Given the description of an element on the screen output the (x, y) to click on. 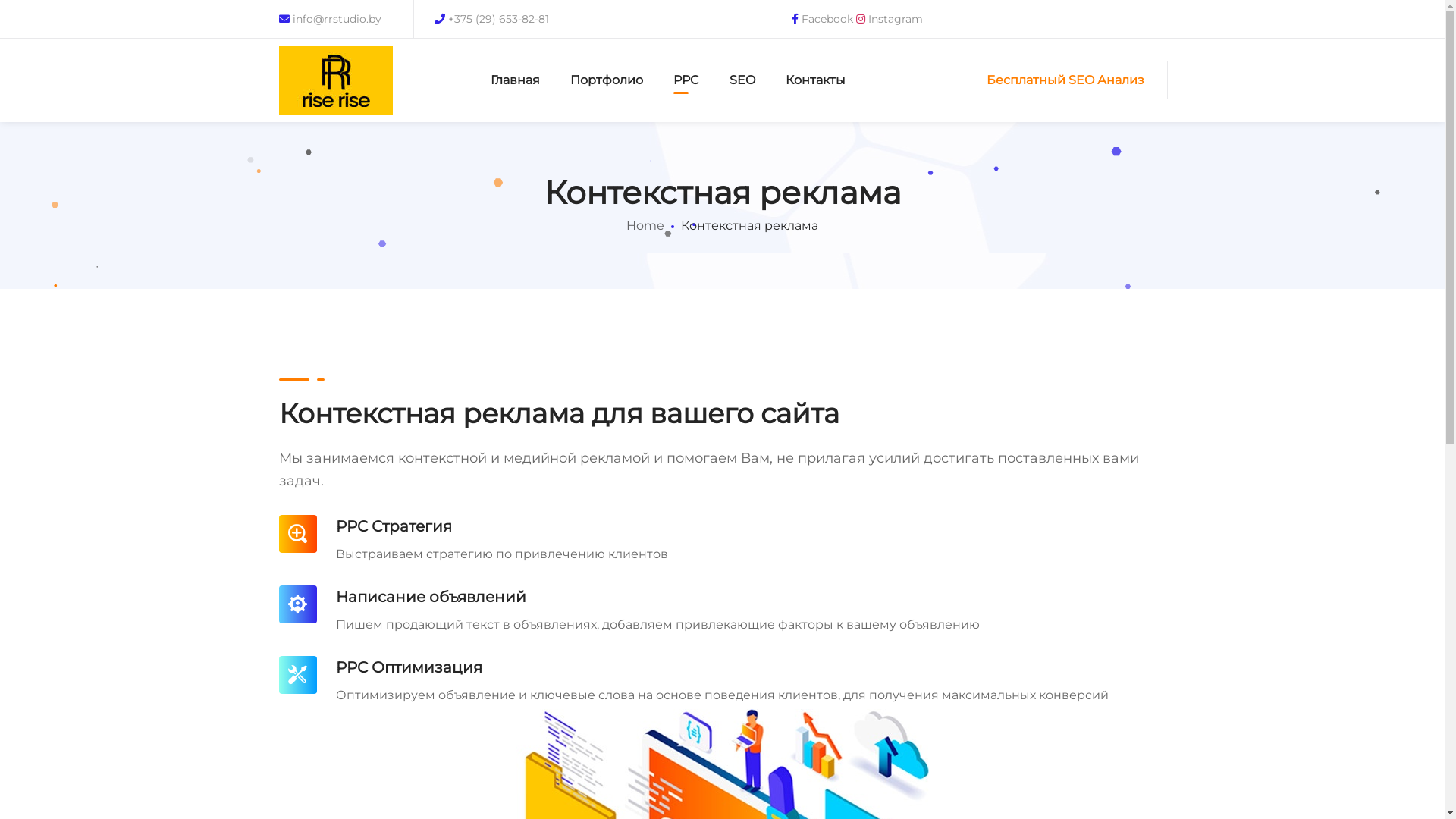
Home Element type: text (645, 225)
Facebook Element type: text (823, 18)
PPC Element type: text (686, 80)
Instagram Element type: text (889, 18)
+375 (29) 653-82-81 Element type: text (490, 18)
info@rrstudio.by Element type: text (330, 18)
SEO Element type: text (742, 80)
